Given the description of an element on the screen output the (x, y) to click on. 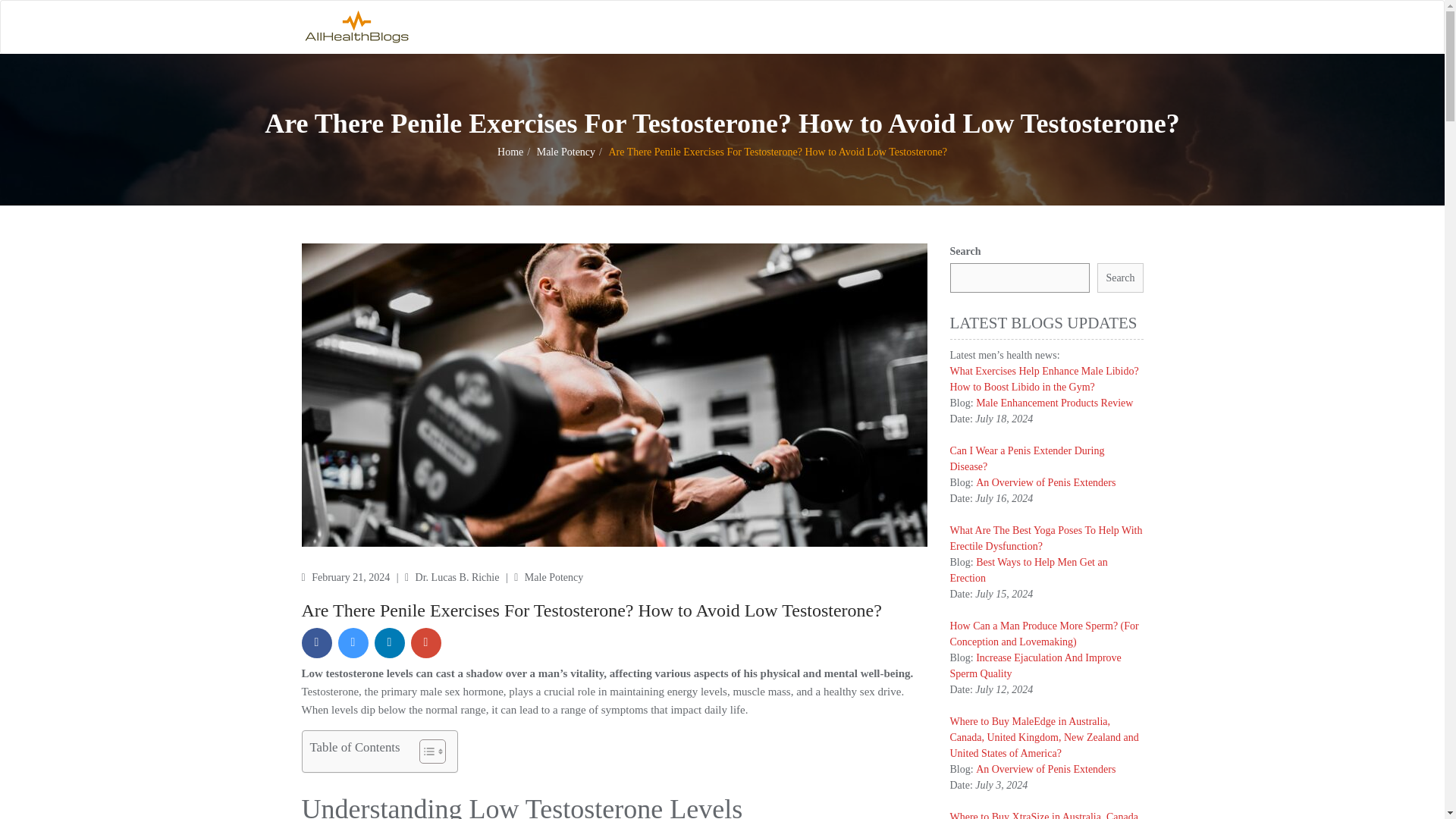
Male Potency (566, 152)
Home (509, 152)
Male Potency (553, 577)
Dr. Lucas B. Richie (458, 577)
February 21, 2024 (352, 577)
